Given the description of an element on the screen output the (x, y) to click on. 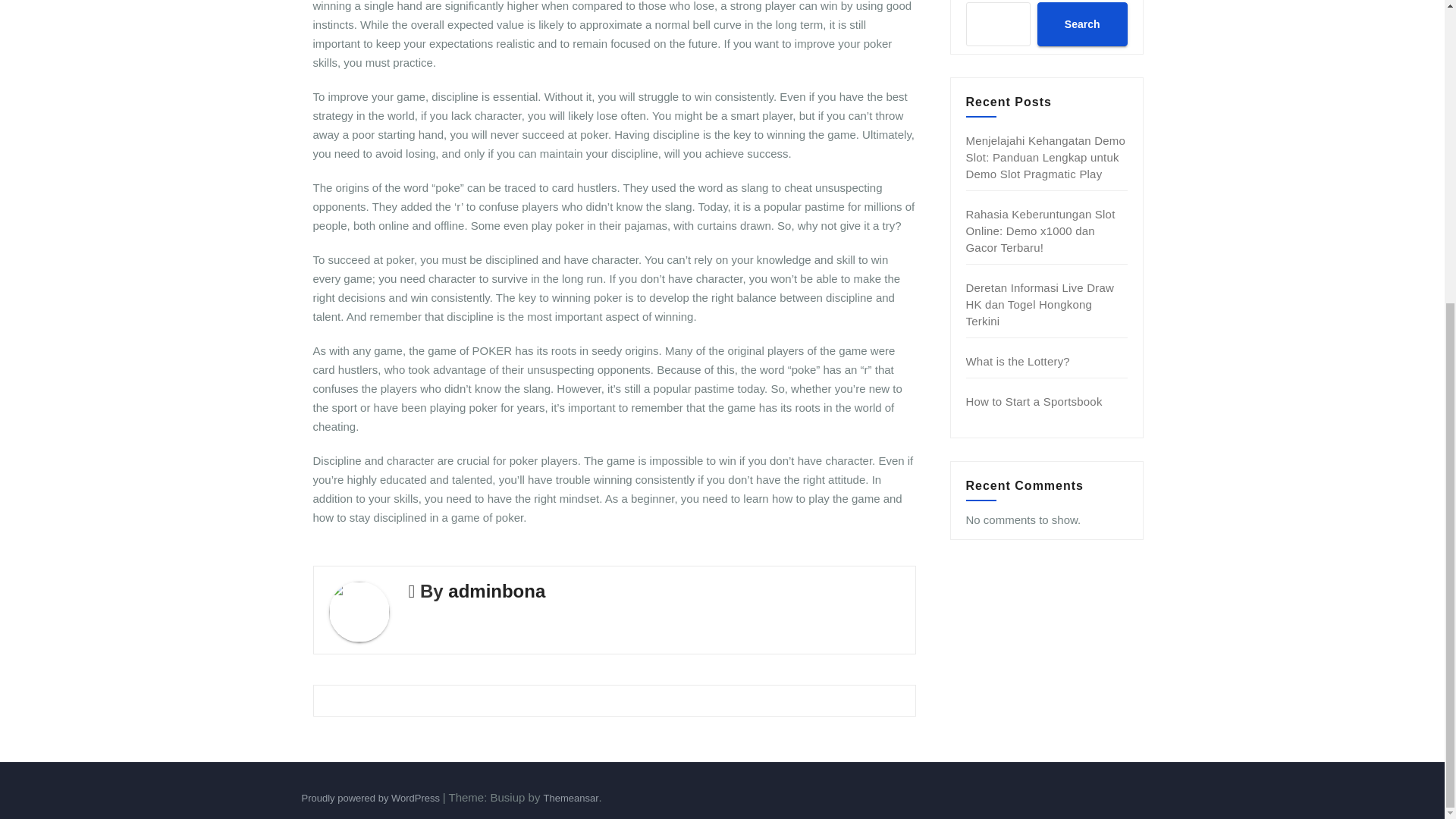
Deretan Informasi Live Draw HK dan Togel Hongkong Terkini (1039, 304)
How to Start a Sportsbook (1034, 400)
What is the Lottery? (1018, 360)
adminbona (496, 590)
Search (1081, 23)
Themeansar (570, 797)
Proudly powered by WordPress (371, 797)
